Given the description of an element on the screen output the (x, y) to click on. 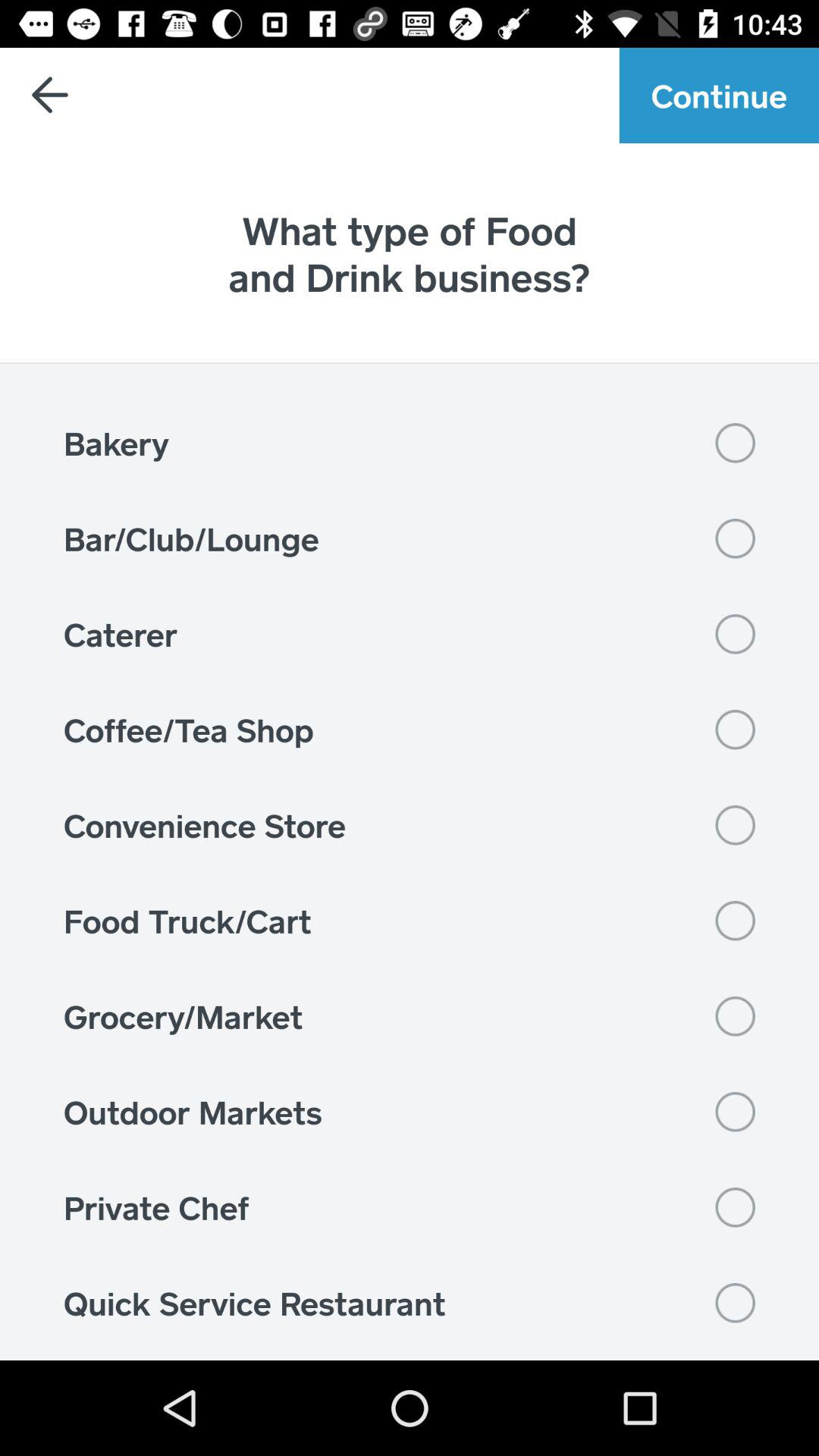
flip to caterer icon (409, 633)
